Given the description of an element on the screen output the (x, y) to click on. 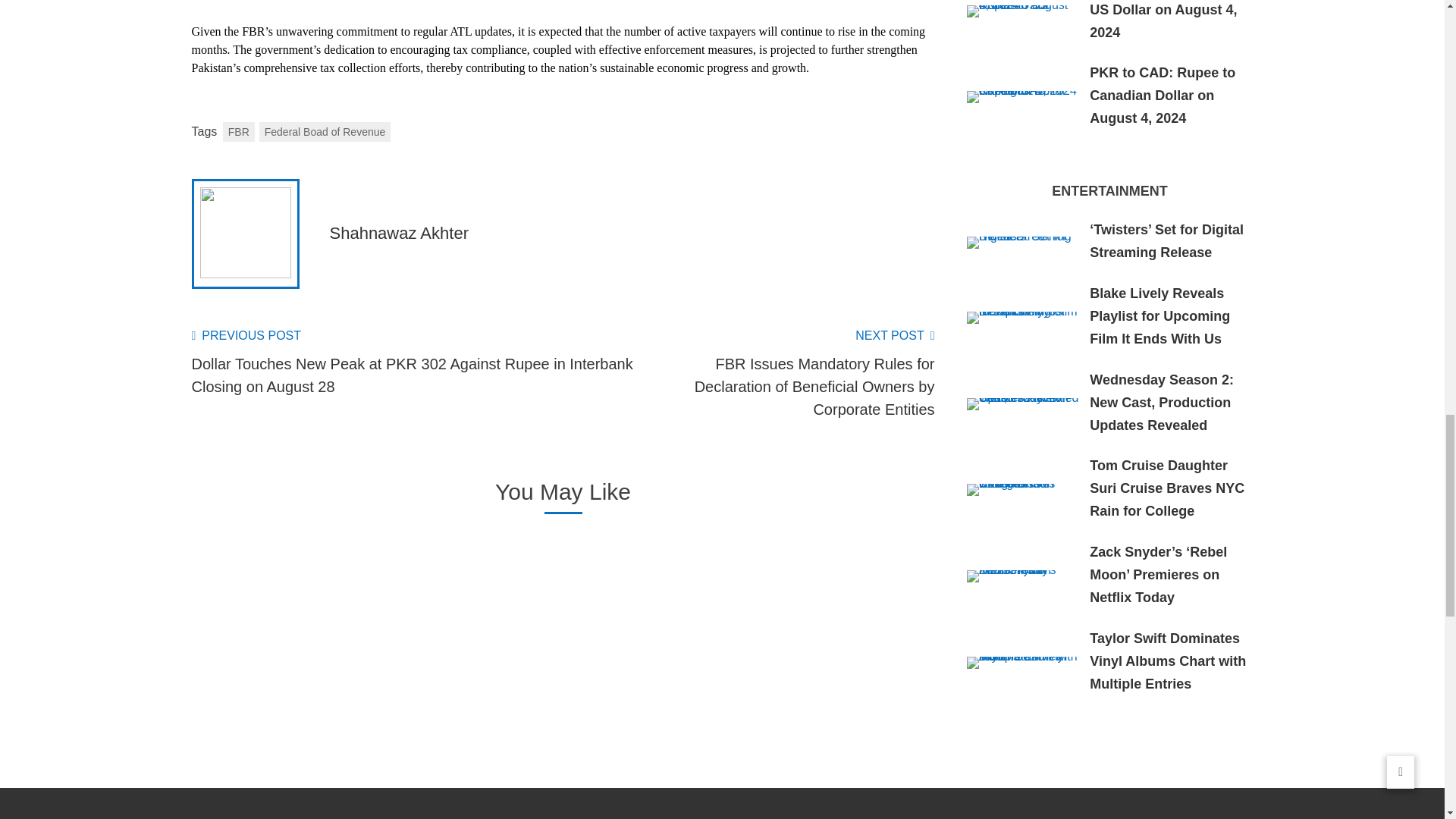
FBR (238, 131)
Shahnawaz Akhter (398, 232)
Federal Boad of Revenue (325, 131)
Posts by Shahnawaz Akhter (398, 232)
